Given the description of an element on the screen output the (x, y) to click on. 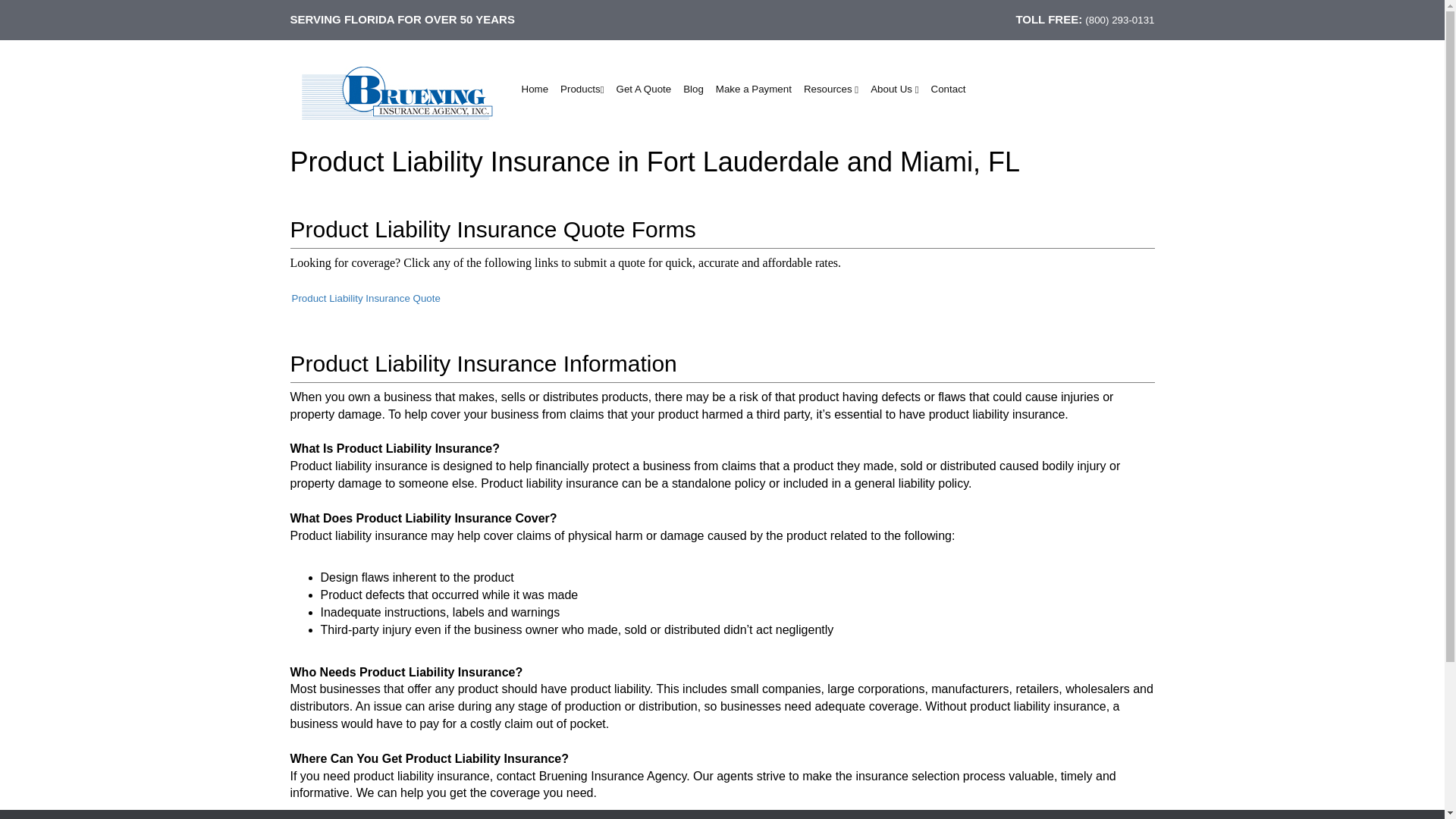
About Us (894, 89)
Blog (693, 89)
Products (582, 89)
Get A Quote (644, 89)
Resources (830, 89)
BRUENING (397, 93)
Home (534, 89)
Make a Payment (753, 89)
